Given the description of an element on the screen output the (x, y) to click on. 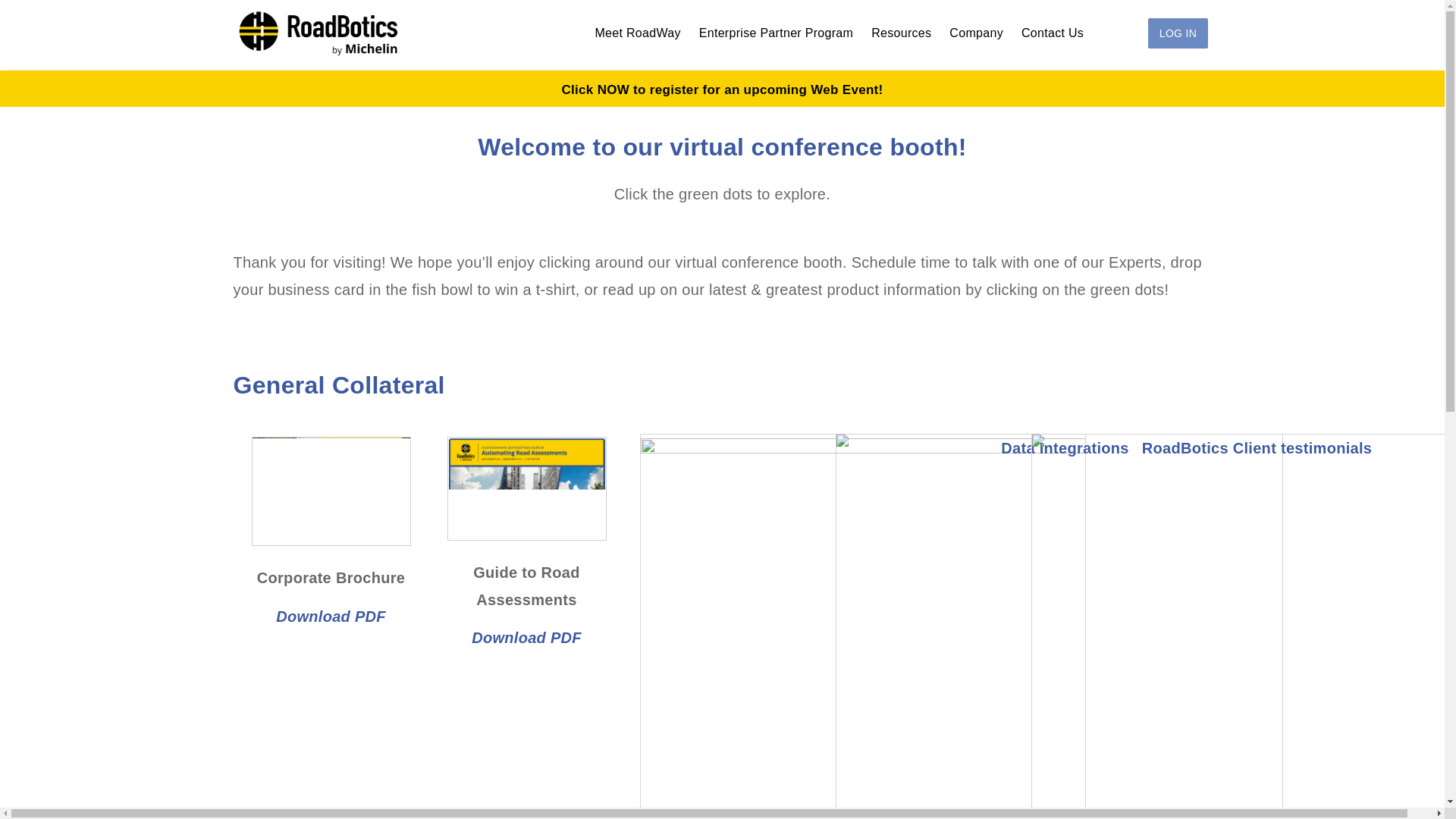
LOG IN (1178, 33)
Contact Us (1052, 32)
Resources (900, 32)
Company (975, 32)
Enterprise Partner Program (775, 32)
Meet RoadWay (636, 32)
